Given the description of an element on the screen output the (x, y) to click on. 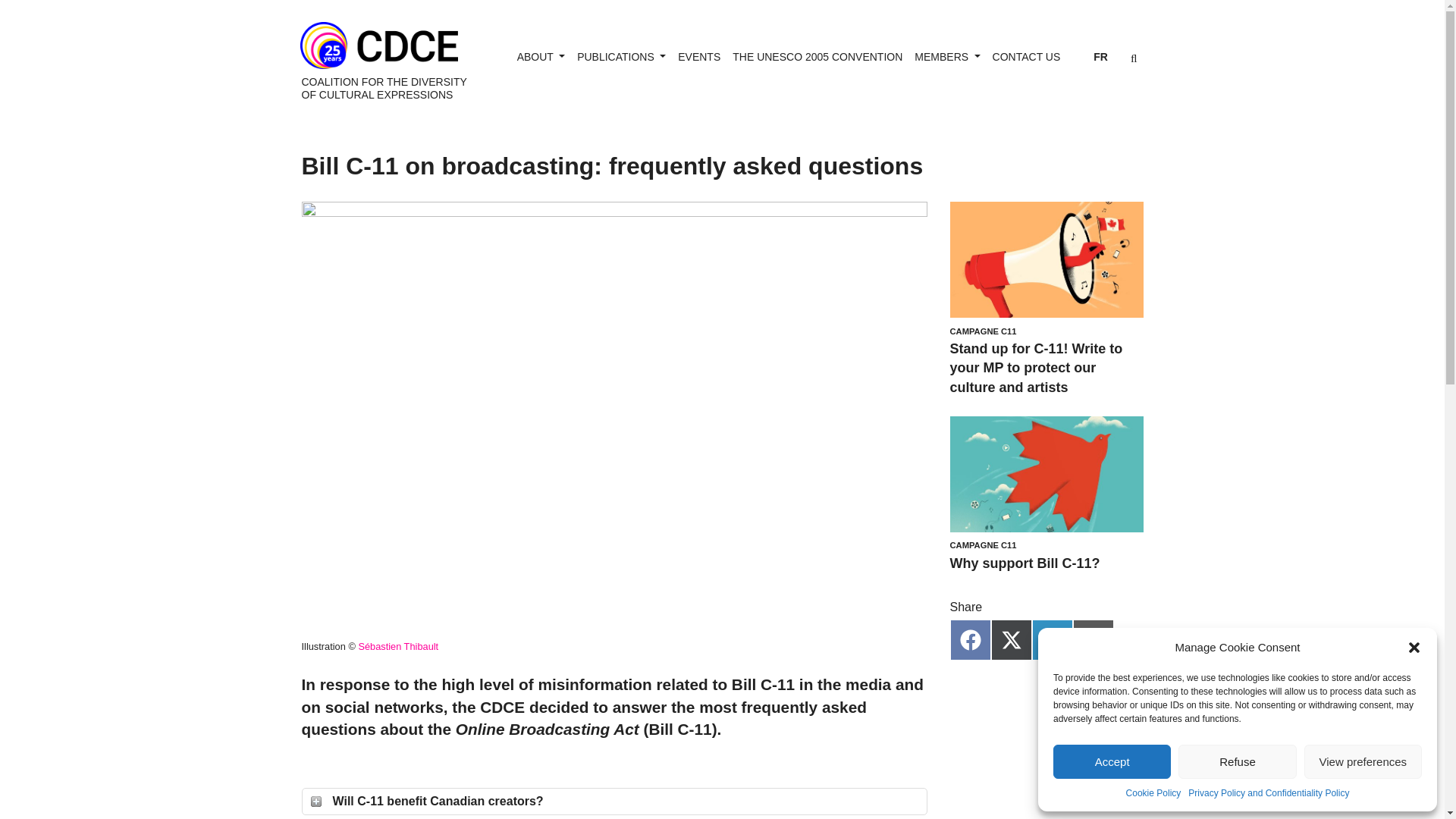
About (540, 57)
Contact us (1027, 57)
Accept (1111, 761)
MEMBERS (946, 57)
Members (946, 57)
View preferences (1363, 761)
EVENTS (698, 57)
Refuse (1236, 761)
Publications (620, 57)
Cookie Policy (1152, 793)
Events (698, 57)
FR (1100, 57)
CONTACT US (1027, 57)
FR (1100, 57)
Privacy Policy and Confidentiality Policy (1268, 793)
